Given the description of an element on the screen output the (x, y) to click on. 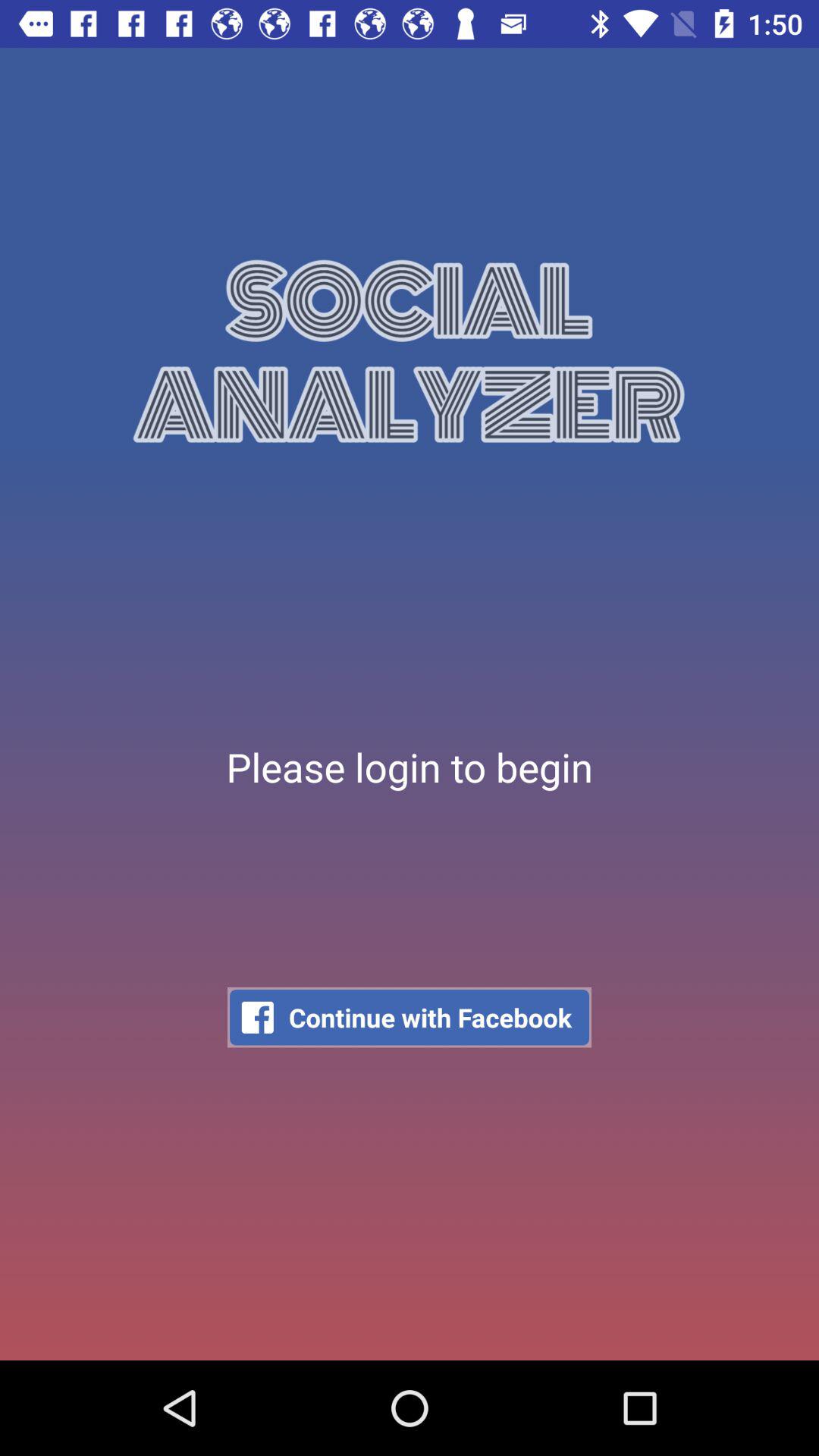
select continue with facebook (409, 1017)
